Given the description of an element on the screen output the (x, y) to click on. 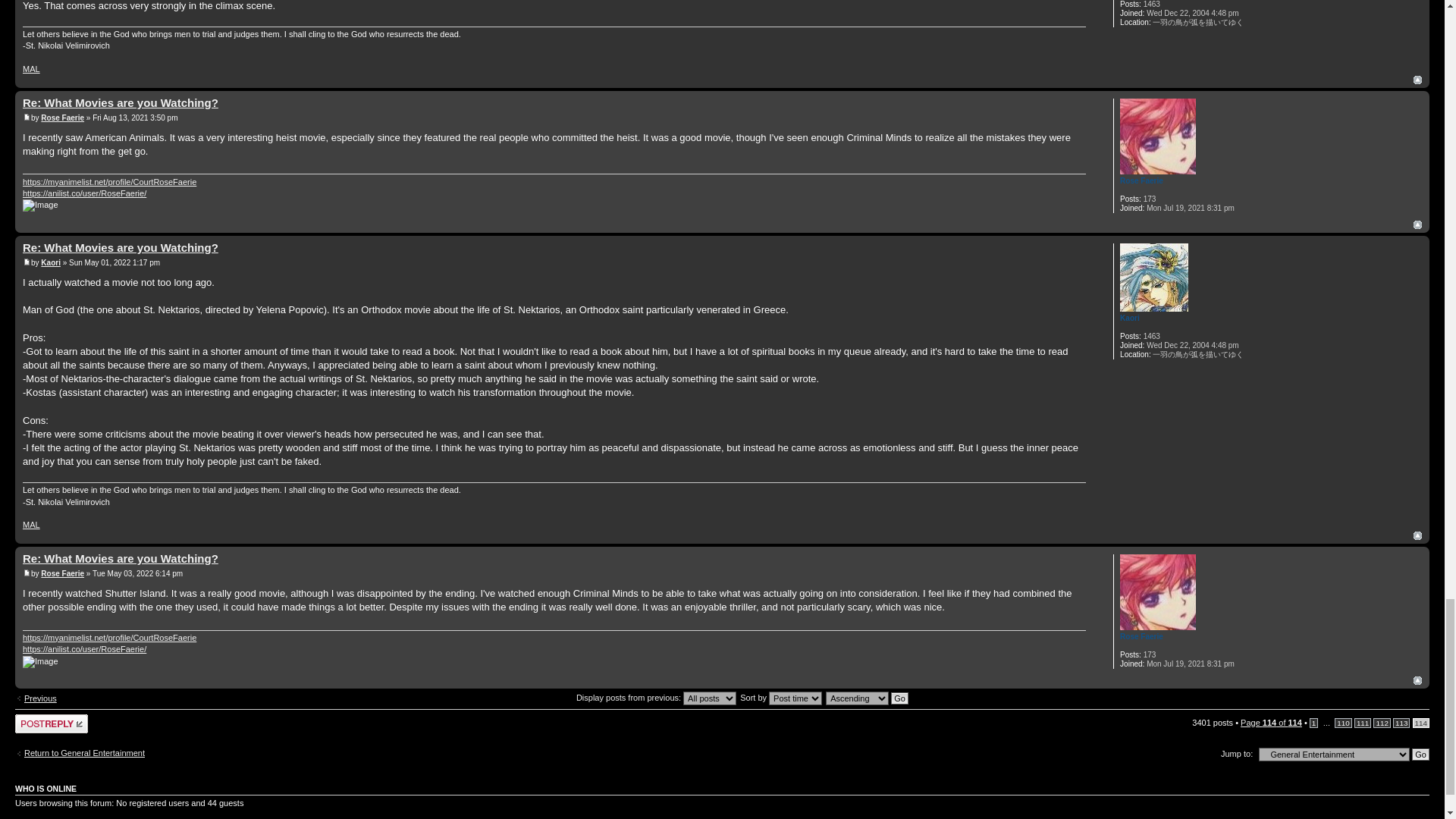
Go (1420, 754)
Go (899, 698)
